Given the description of an element on the screen output the (x, y) to click on. 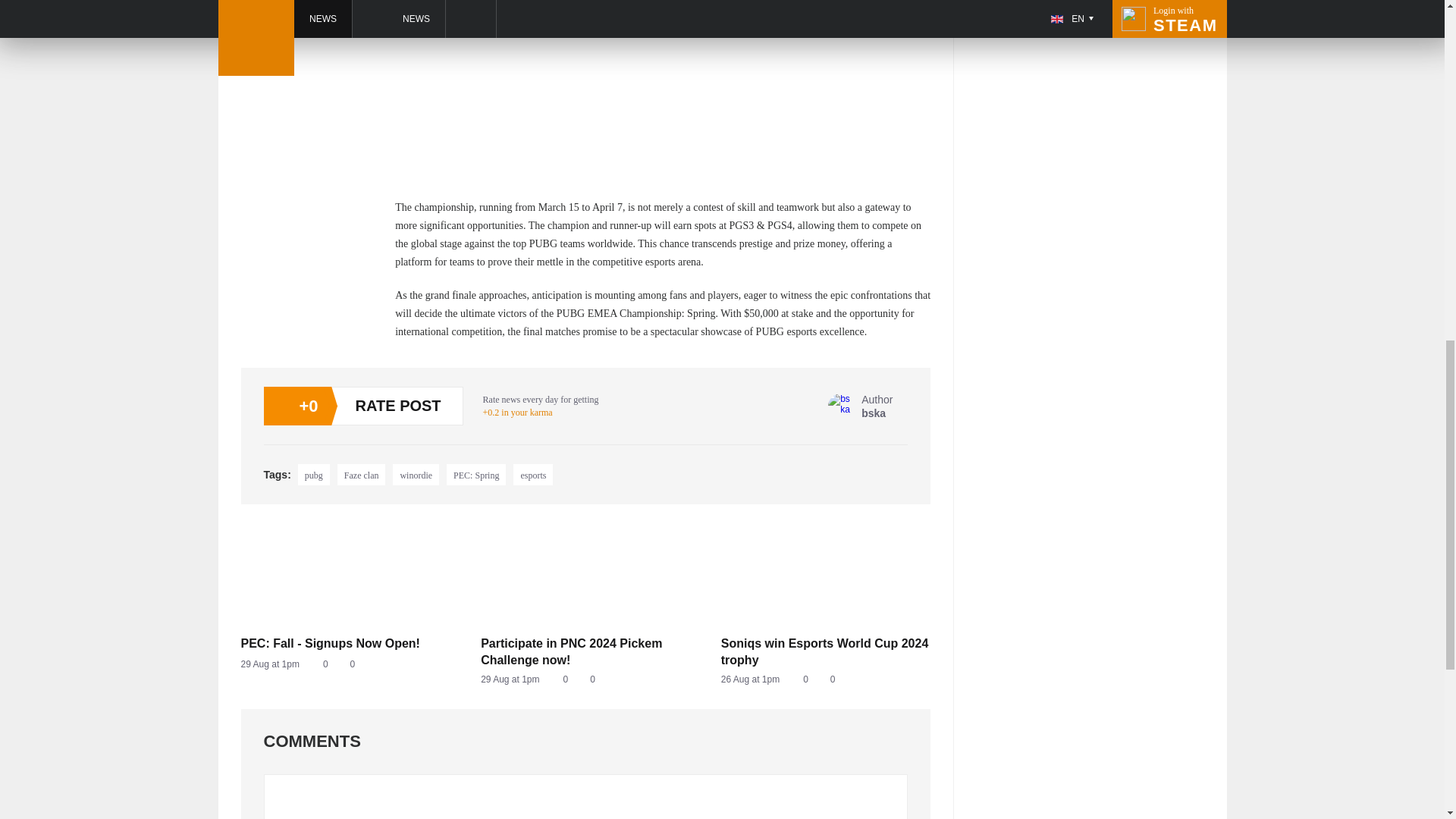
PEC: Fall - Signups Now Open! (346, 643)
winordie (416, 474)
Faze clan (361, 474)
esports (825, 679)
Soniqs win Esports World Cup 2024 trophy (346, 664)
Participate in PNC 2024 Pickem Challenge now! (533, 474)
PEC: Spring (860, 406)
